Given the description of an element on the screen output the (x, y) to click on. 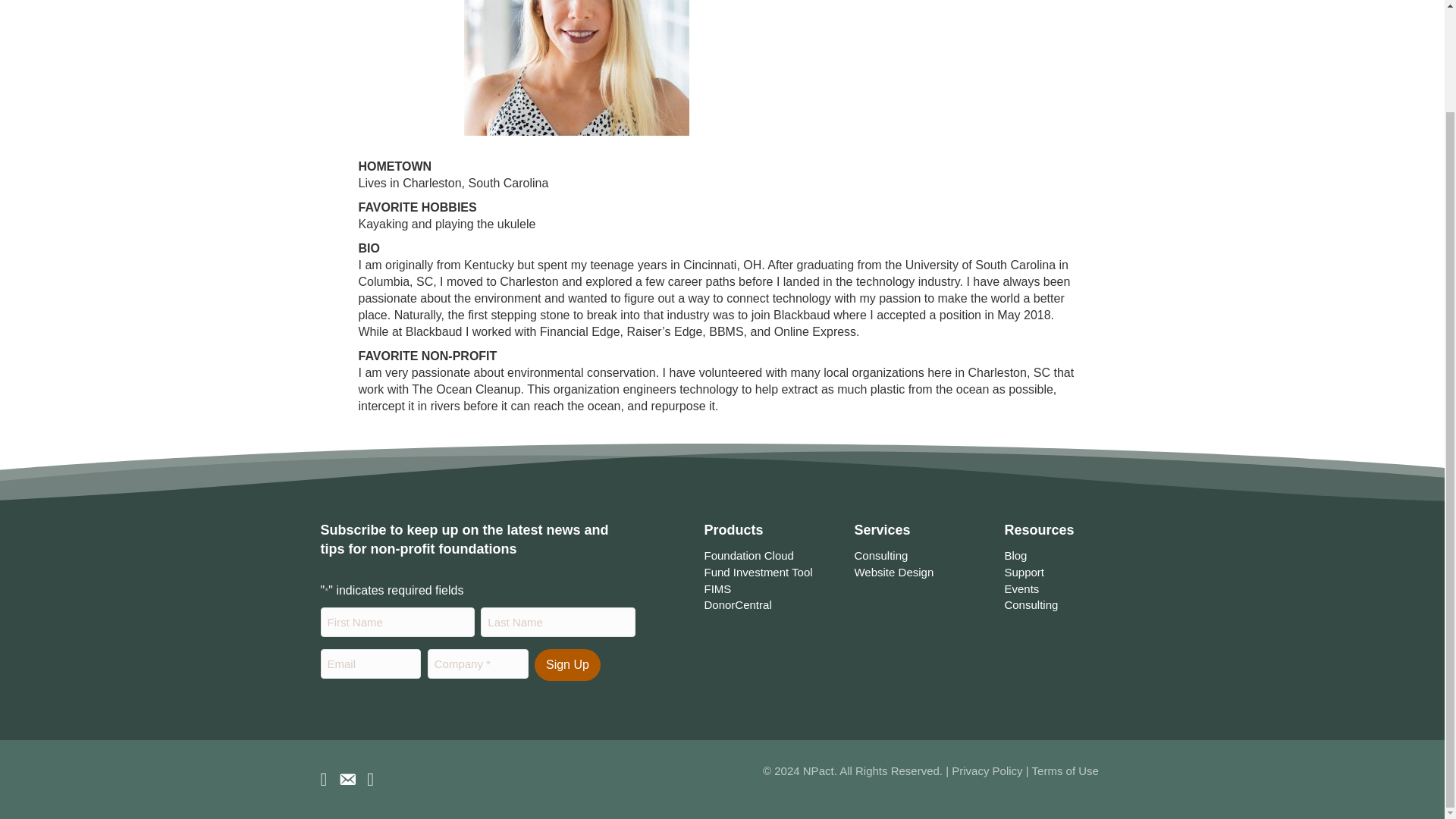
FIMS (716, 588)
Sign Up (566, 664)
Blog (1015, 554)
Consulting (880, 554)
DonorCentral (737, 604)
Fund Investment Tool (757, 571)
Foundation Cloud (748, 554)
Support (1023, 571)
Website Design (893, 571)
Sign Up (566, 664)
